Given the description of an element on the screen output the (x, y) to click on. 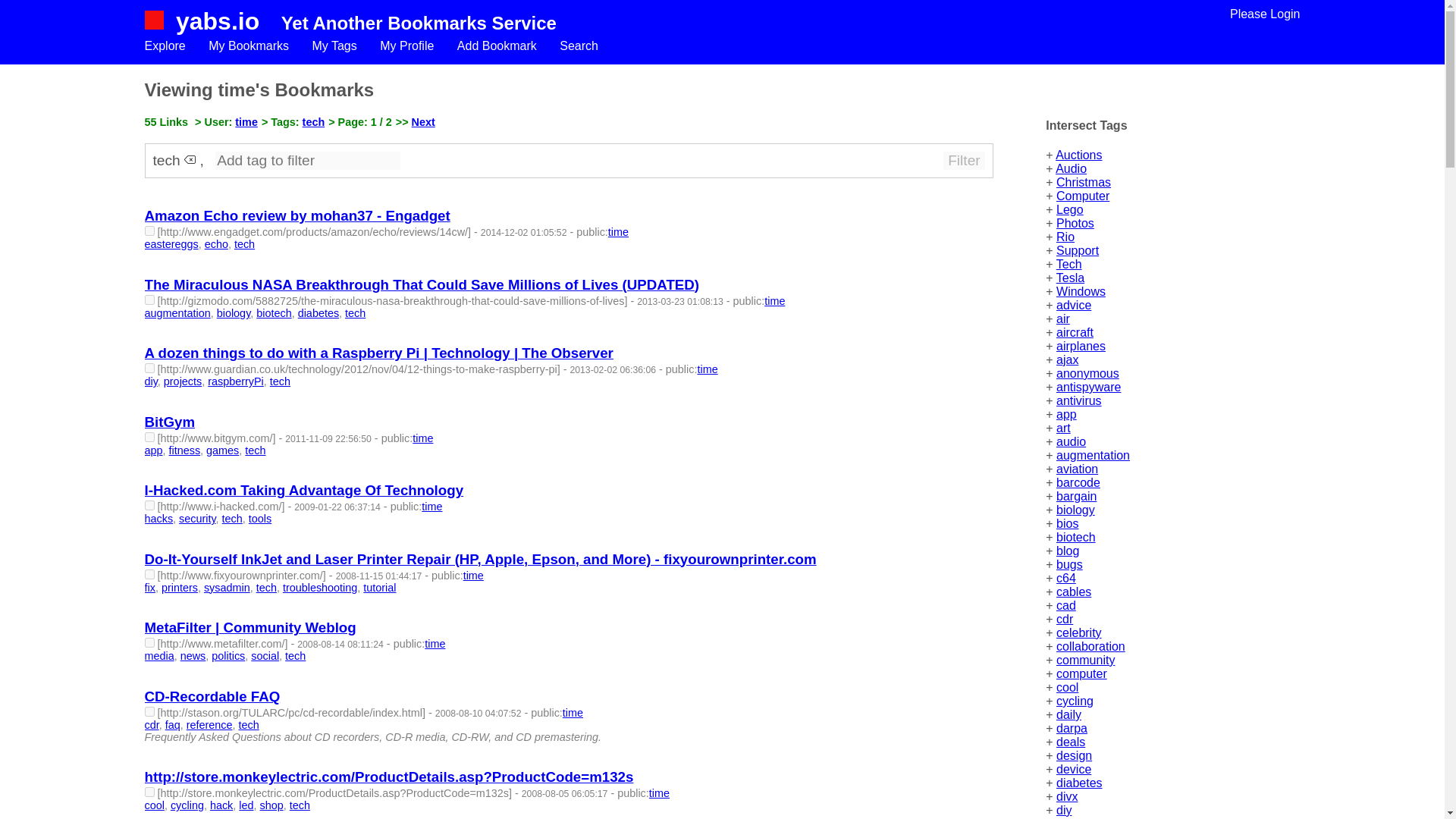
Tech (1069, 264)
Windows (1081, 291)
Audio (1070, 168)
2120 (149, 368)
aviation (1077, 468)
My Bookmarks (248, 45)
anonymous (1088, 373)
Lego (1070, 209)
audio (1071, 440)
art (1063, 427)
Please Login (1265, 13)
Computer (1083, 195)
1833 (149, 230)
Auctions (1078, 154)
Tesla (1070, 277)
